Given the description of an element on the screen output the (x, y) to click on. 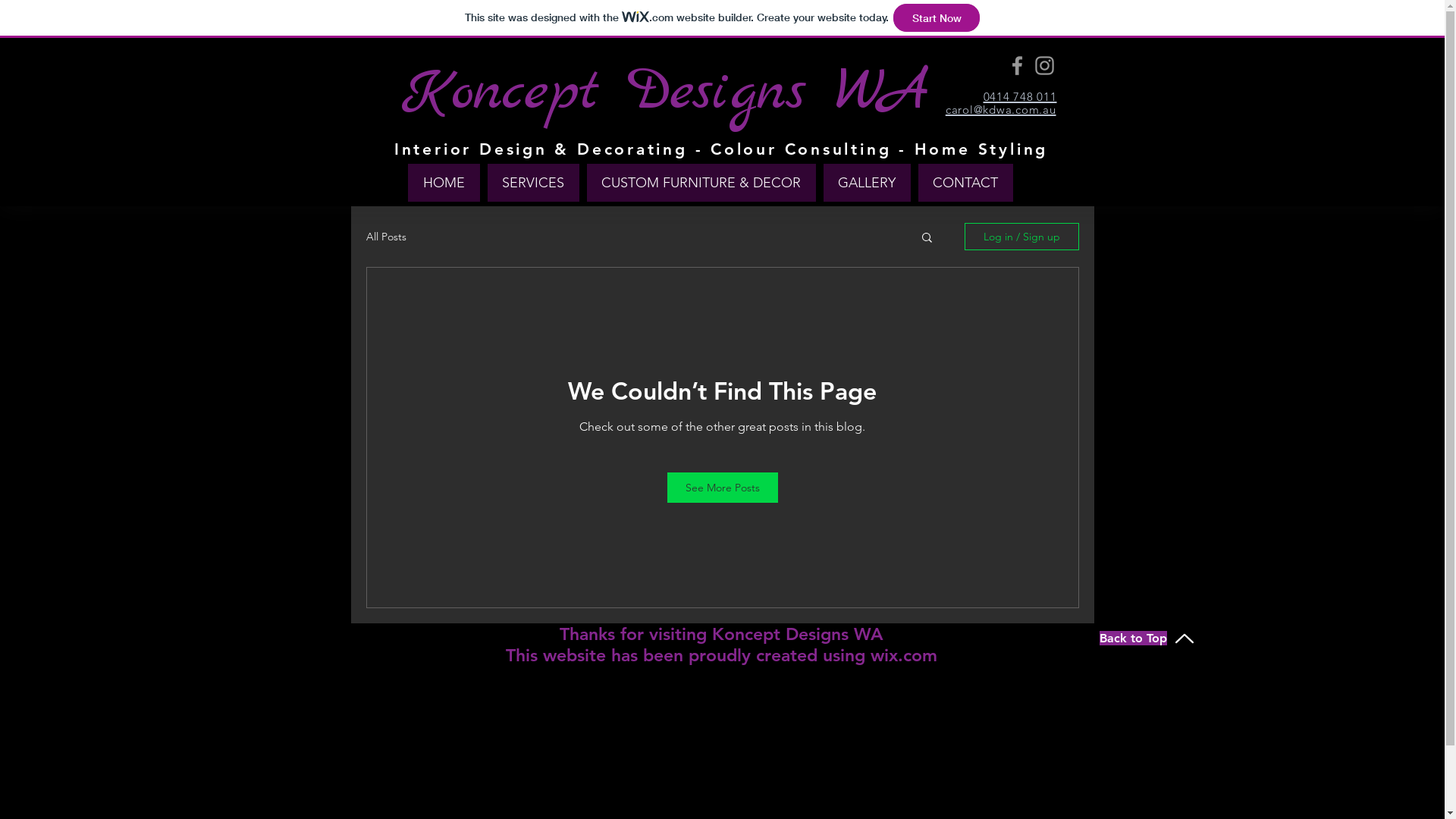
CONTACT Element type: text (964, 182)
See More Posts Element type: text (722, 487)
HOME Element type: text (443, 182)
0414 748 011 Element type: text (1019, 95)
All Posts Element type: text (385, 236)
carol@kdwa.com.au Element type: text (1000, 108)
CUSTOM FURNITURE & DECOR Element type: text (700, 182)
SERVICES Element type: text (532, 182)
Log in / Sign up Element type: text (1021, 236)
GALLERY Element type: text (866, 182)
Back to Top Element type: text (1147, 638)
